Given the description of an element on the screen output the (x, y) to click on. 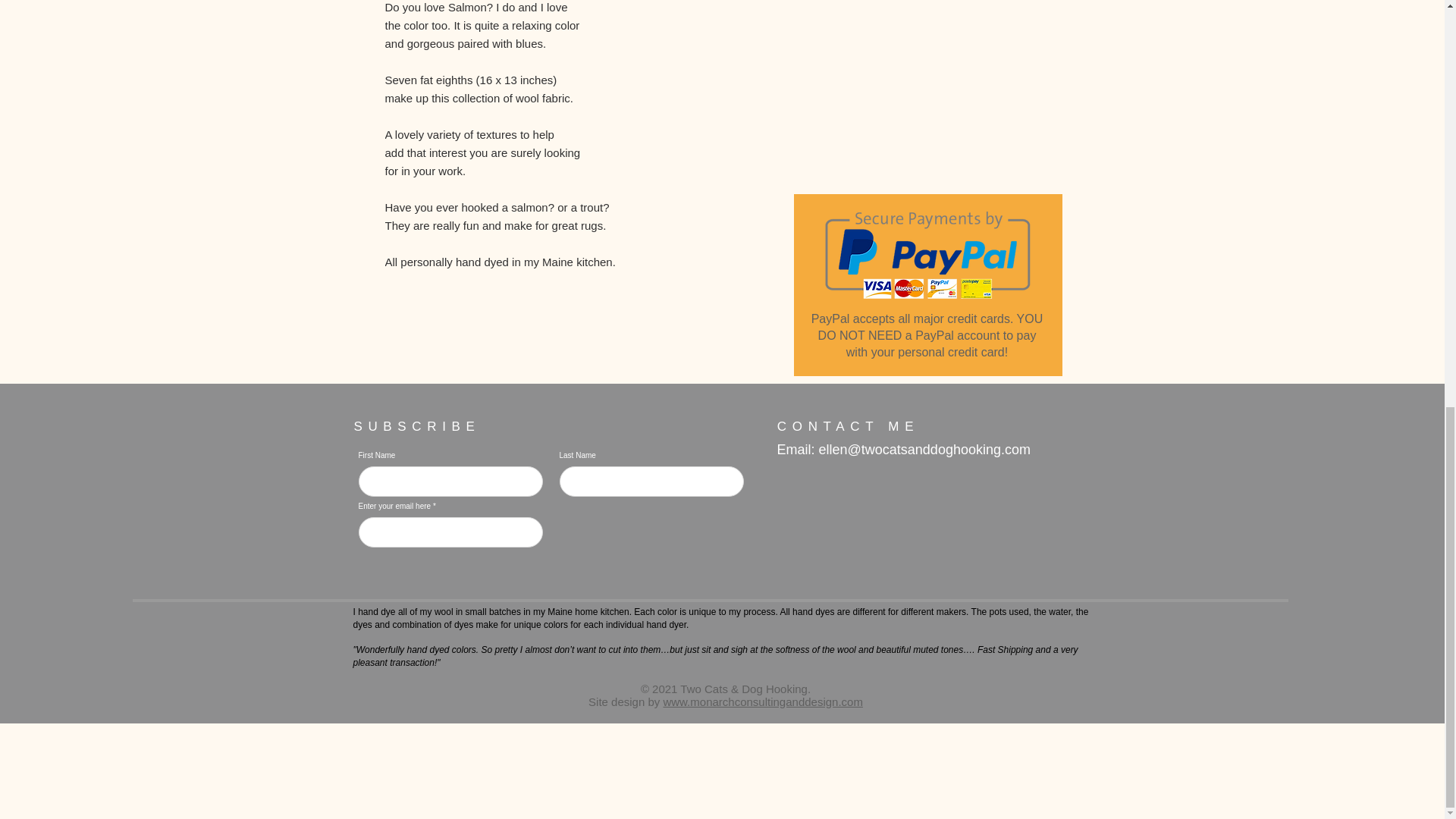
www.monarchconsultinganddesign.com (761, 701)
